Given the description of an element on the screen output the (x, y) to click on. 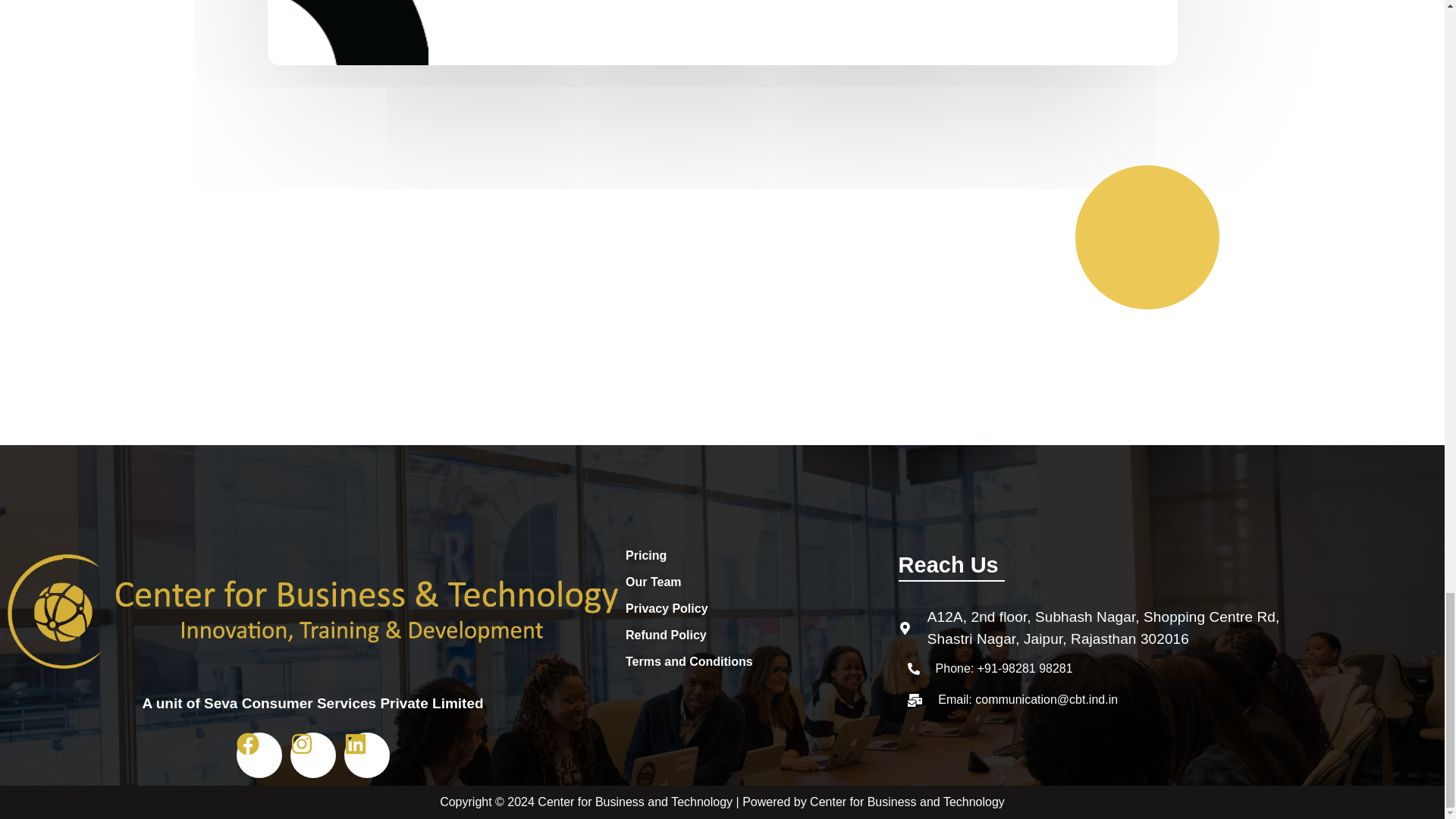
Our Team (758, 582)
Pricing (758, 556)
Reach Us (948, 564)
Privacy Policy (758, 608)
Terms and Conditions (758, 661)
Refund Policy (758, 635)
